Given the description of an element on the screen output the (x, y) to click on. 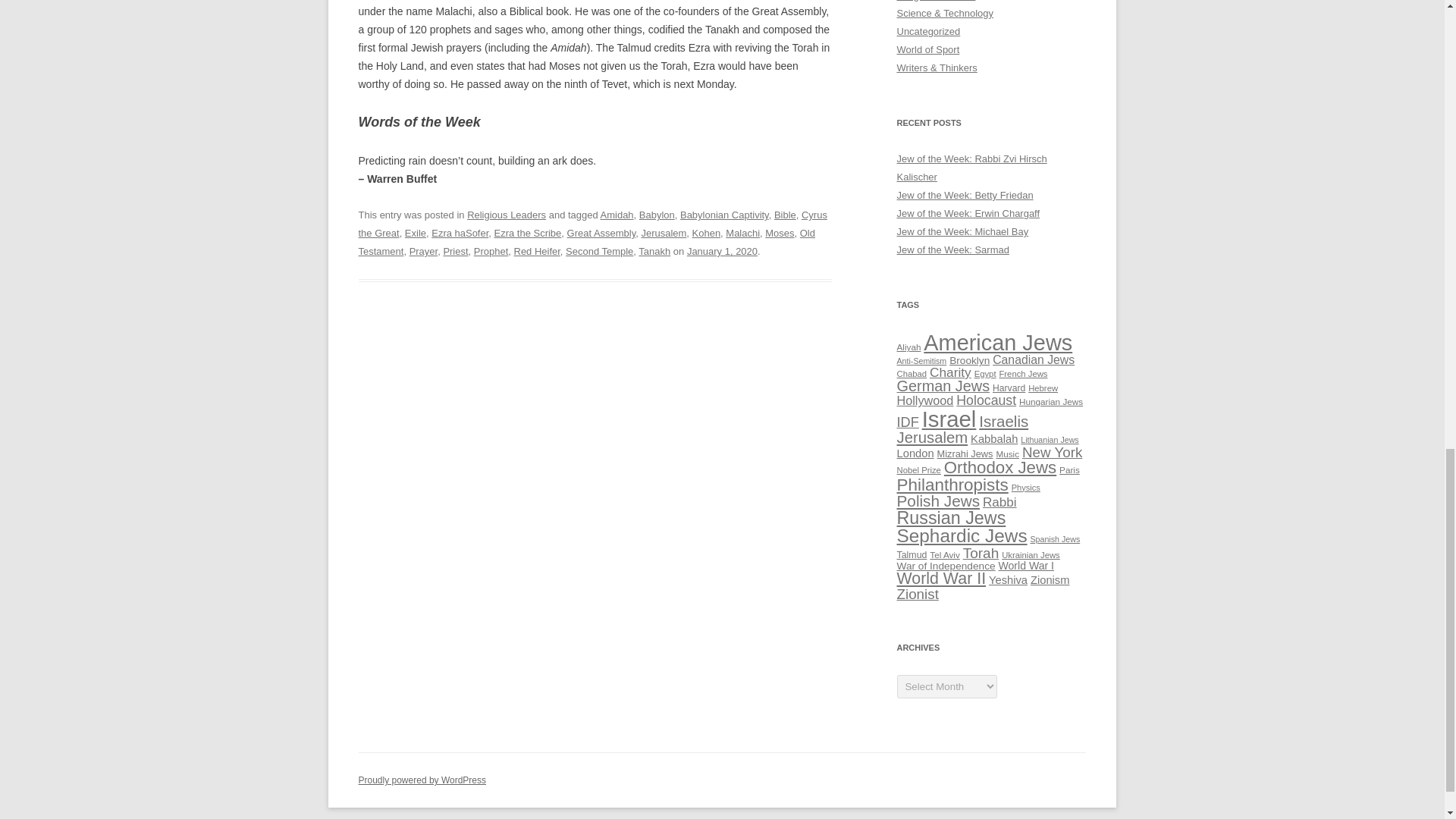
Red Heifer (536, 251)
Prophet (491, 251)
Bible (785, 214)
Amidah (616, 214)
Ezra haSofer (458, 233)
Old Testament (585, 242)
Babylonian Captivity (723, 214)
Tanakh (654, 251)
January 1, 2020 (722, 251)
Malachi (742, 233)
Ezra the Scribe (528, 233)
Second Temple (599, 251)
Babylon (657, 214)
Cyrus the Great (592, 224)
Kohen (706, 233)
